Given the description of an element on the screen output the (x, y) to click on. 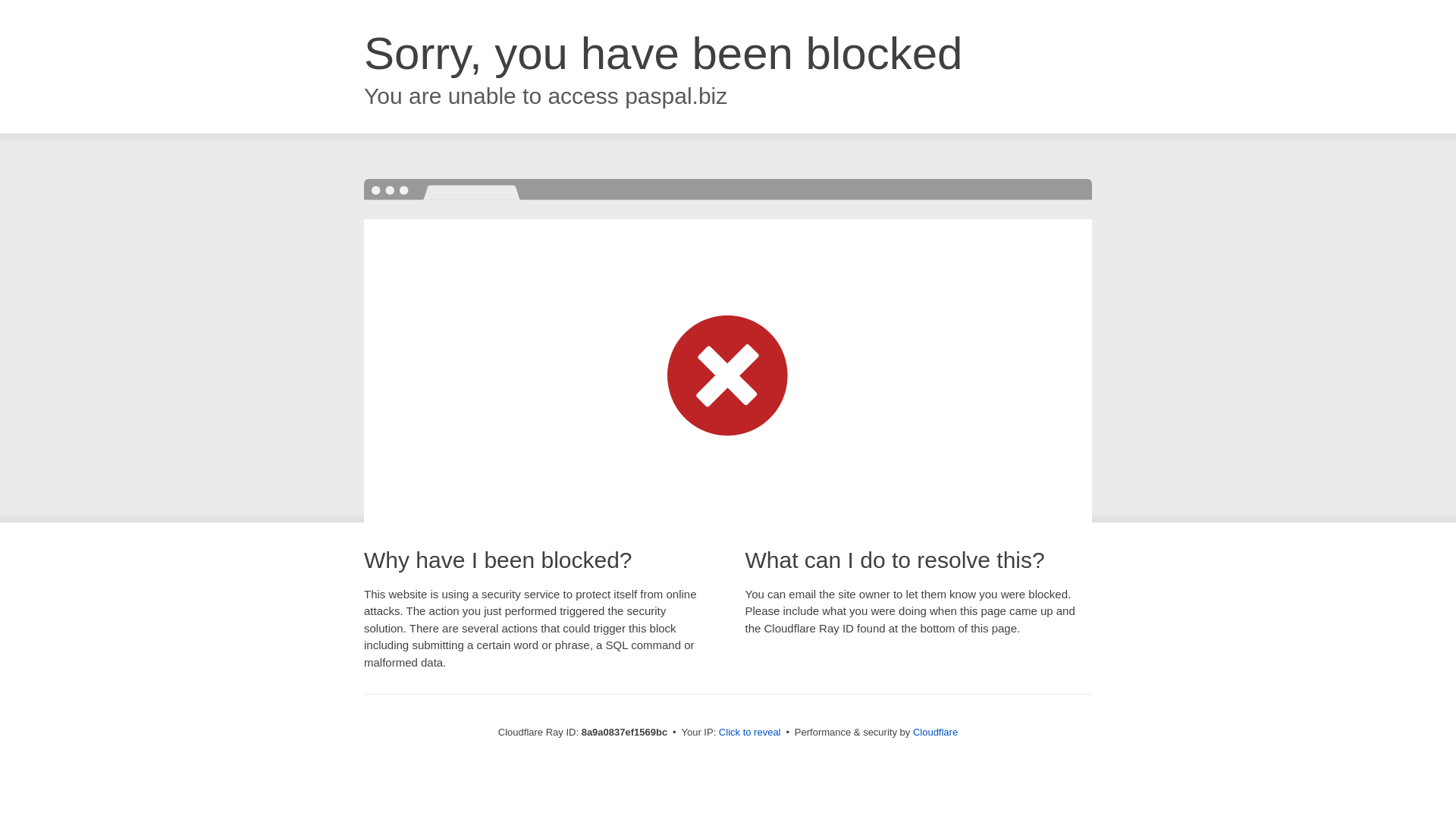
Cloudflare (935, 731)
Click to reveal (749, 732)
